Given the description of an element on the screen output the (x, y) to click on. 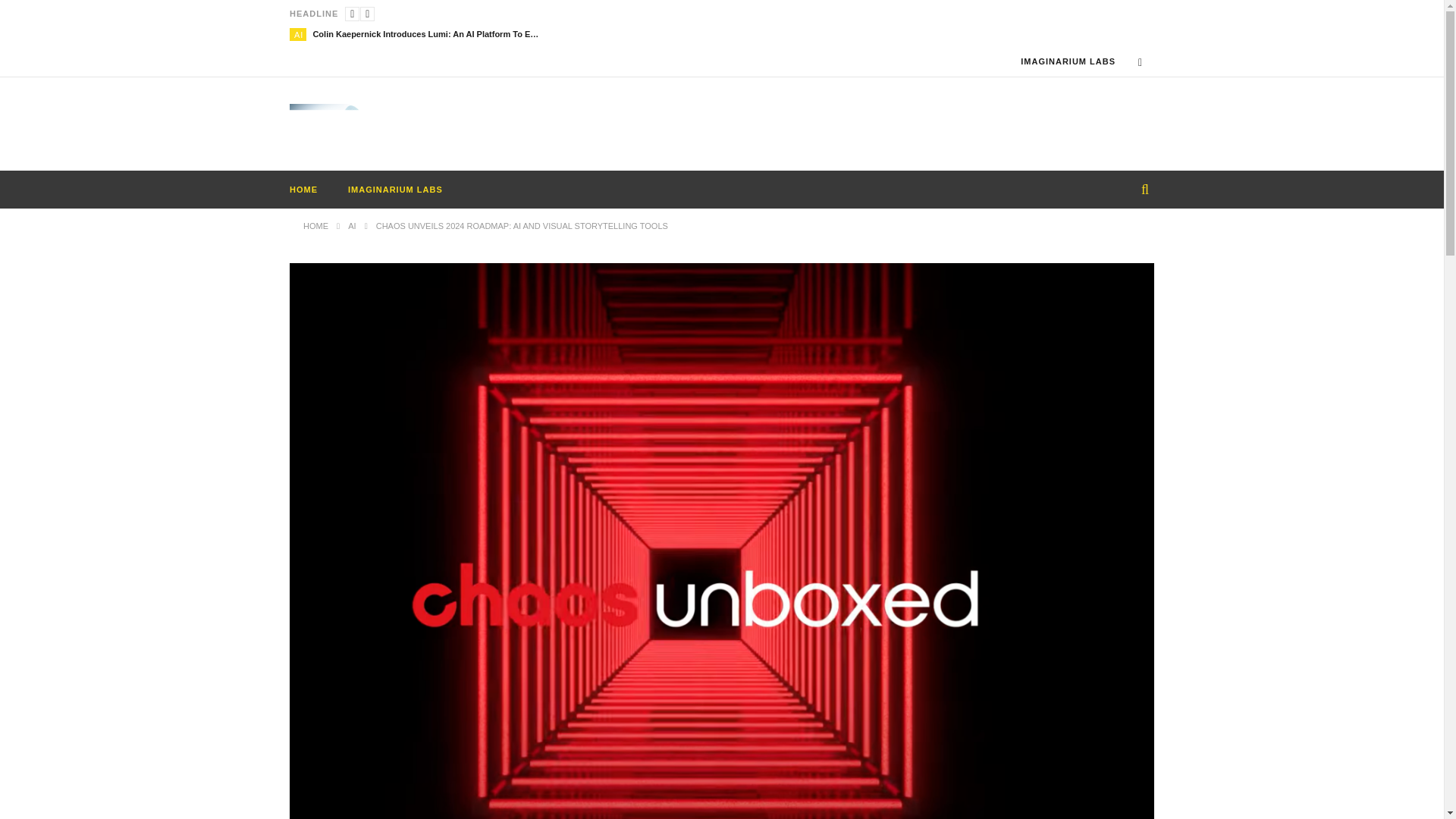
search (1129, 221)
View all posts in AI (298, 34)
AI (298, 34)
IMAGINARIUM LABS (1067, 61)
Email (1139, 61)
INSPiRA MEDIA (330, 126)
HOME (315, 225)
HOME (304, 189)
IMAGINARIUM LABS (395, 189)
